Given the description of an element on the screen output the (x, y) to click on. 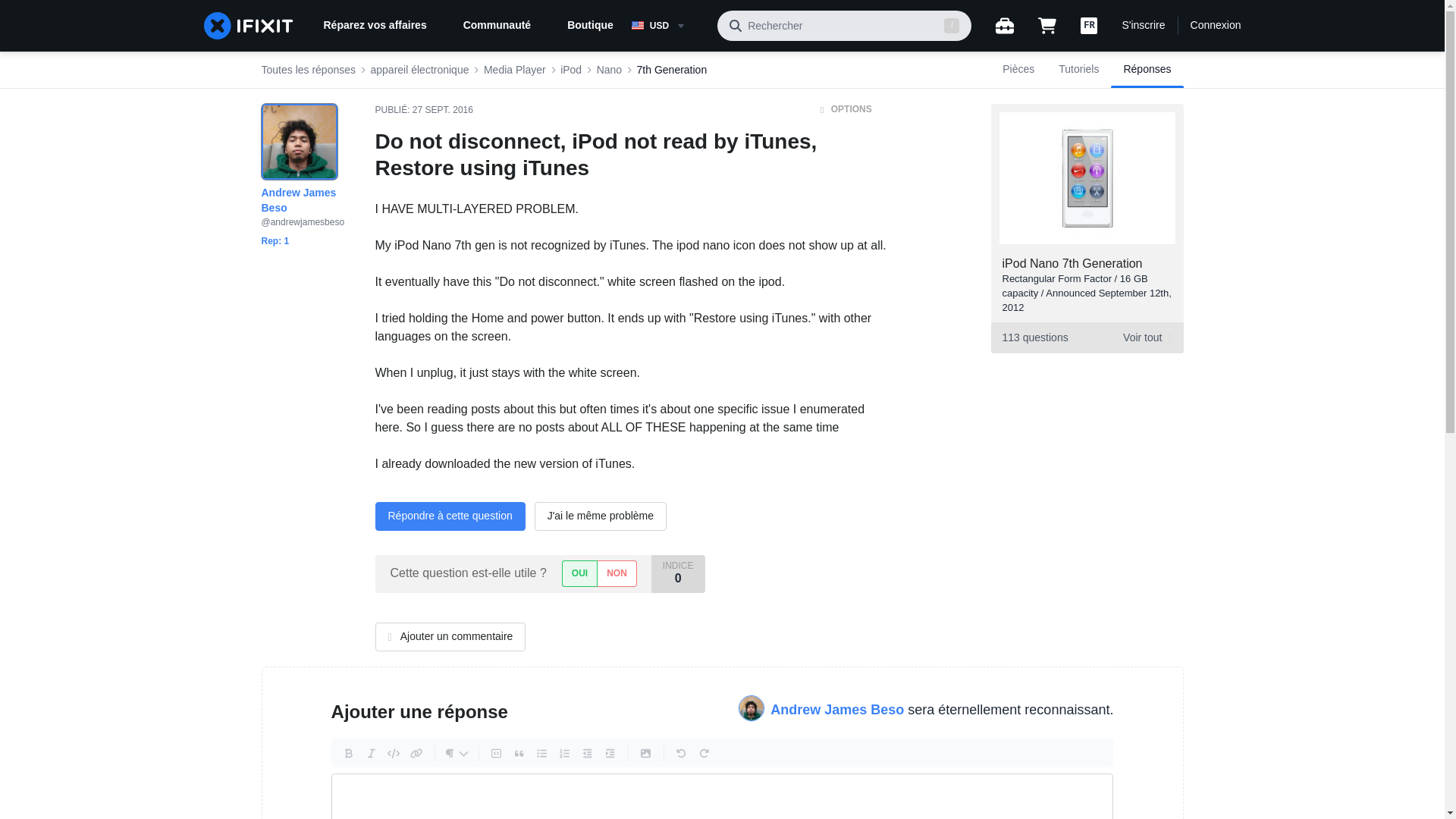
Tutoriels (1078, 69)
iPod Nano 7th Generation (1072, 263)
Tue, 27 Sep 2016 19:42:53 -0700 (442, 109)
USD (667, 25)
Media Player (514, 69)
Connexion (1216, 25)
7th Generation (672, 69)
iPod (570, 69)
S'inscrire (1142, 25)
